Given the description of an element on the screen output the (x, y) to click on. 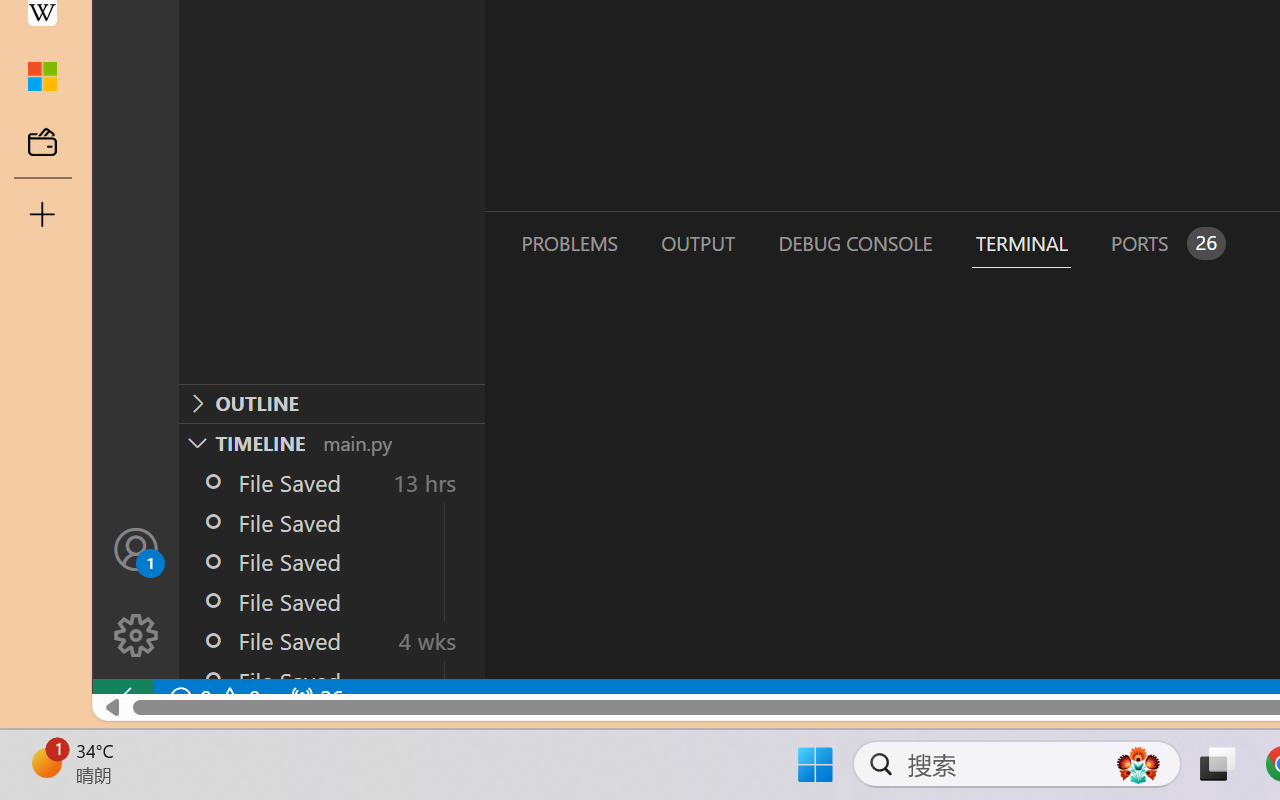
No Problems (212, 698)
Manage (135, 635)
Debug Console (Ctrl+Shift+Y) (854, 243)
Outline Section (331, 403)
Output (Ctrl+Shift+U) (696, 243)
Terminal (Ctrl+`) (1021, 243)
Manage (135, 591)
Timeline Section (331, 442)
